Given the description of an element on the screen output the (x, y) to click on. 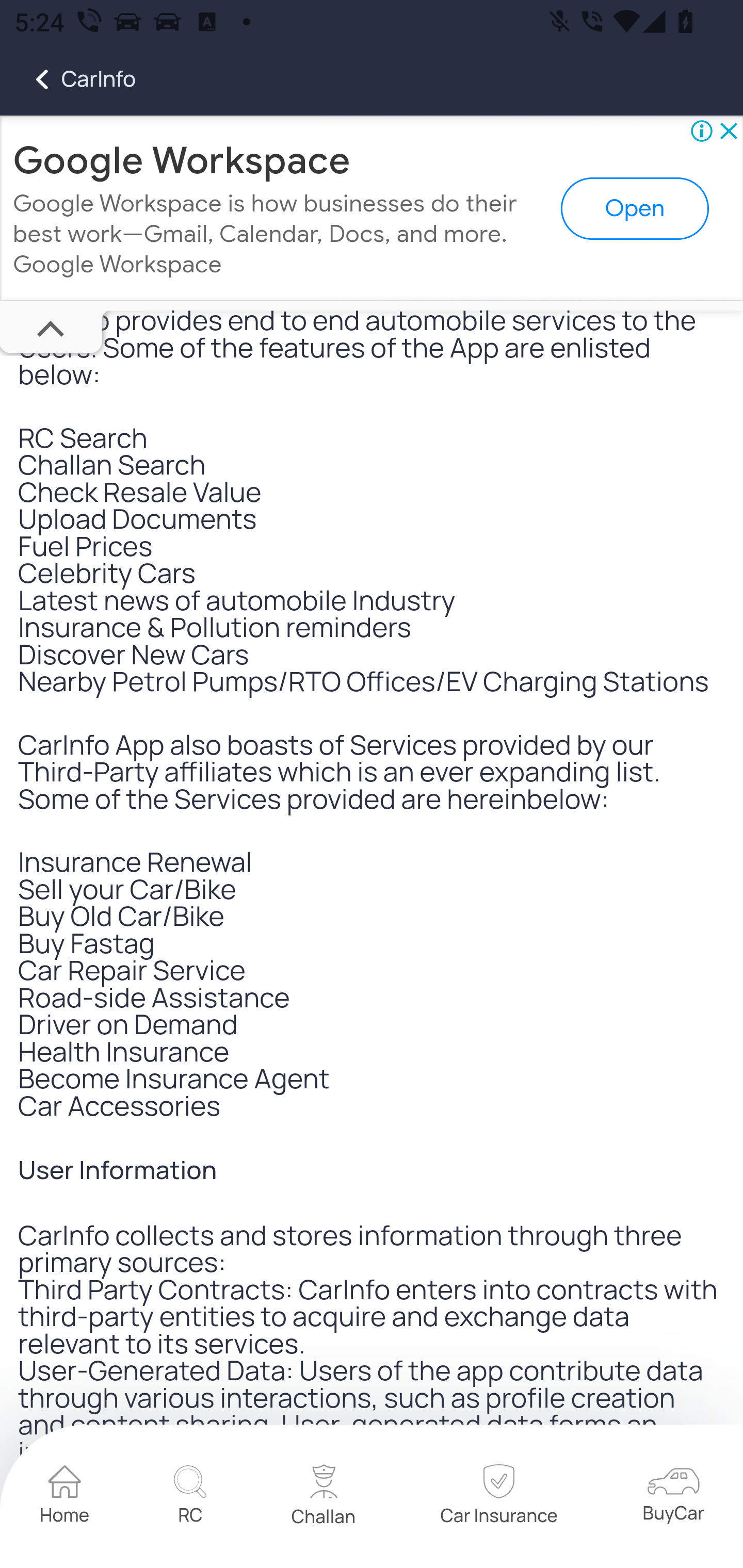
CarInfo (67, 79)
Google Workspace (182, 161)
Open (634, 209)
home Challan home Challan (323, 1496)
home Home home Home (64, 1497)
home RC home RC (190, 1497)
home Car Insurance home Car Insurance (497, 1497)
home BuyCar home BuyCar (672, 1497)
